Given the description of an element on the screen output the (x, y) to click on. 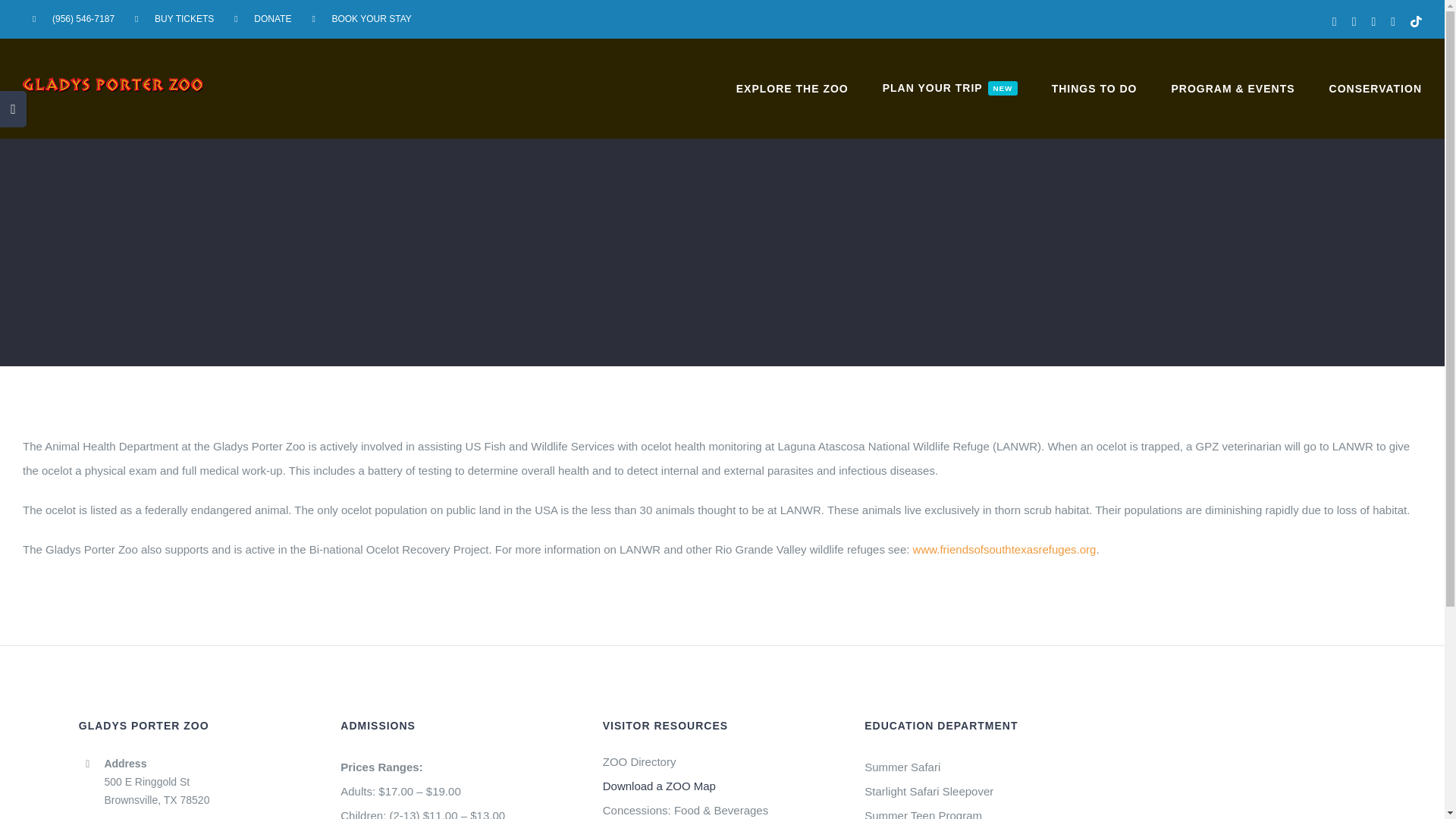
Custom (1416, 21)
BOOK YOUR STAY (949, 88)
Instagram (360, 18)
THINGS TO DO (1392, 21)
EXPLORE THE ZOO (1094, 88)
YouTube (792, 88)
X (1373, 21)
BUY TICKETS (1354, 21)
Facebook (174, 18)
DONATE (1334, 21)
